Given the description of an element on the screen output the (x, y) to click on. 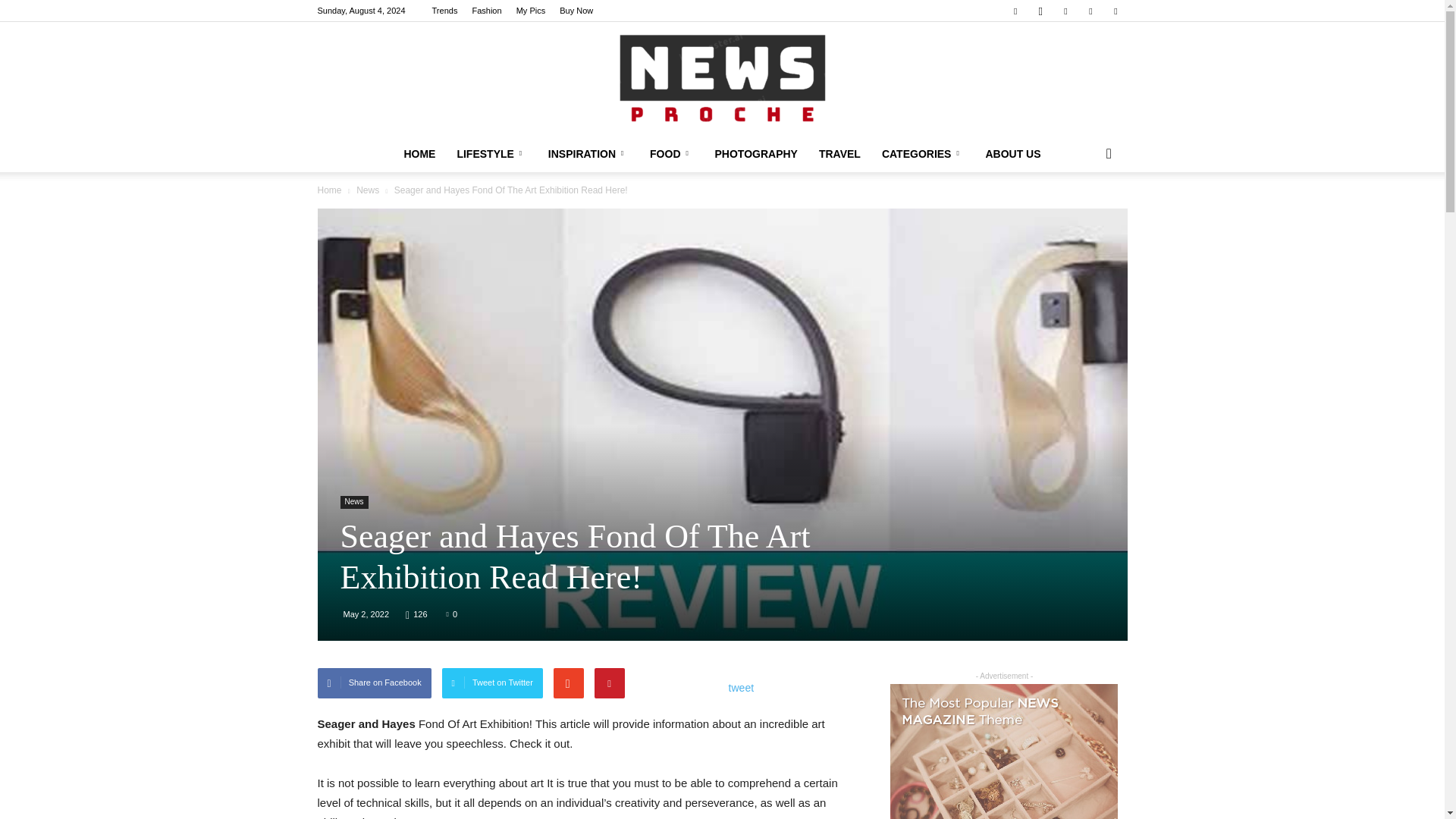
Buy Now (575, 10)
LIFESTYLE (491, 153)
Pinterest (1065, 10)
My Pics (531, 10)
Instagram (1040, 10)
Tumblr (1090, 10)
Trends (445, 10)
Facebook (1015, 10)
Twitter (1114, 10)
HOME (419, 153)
Fashion (485, 10)
